Given the description of an element on the screen output the (x, y) to click on. 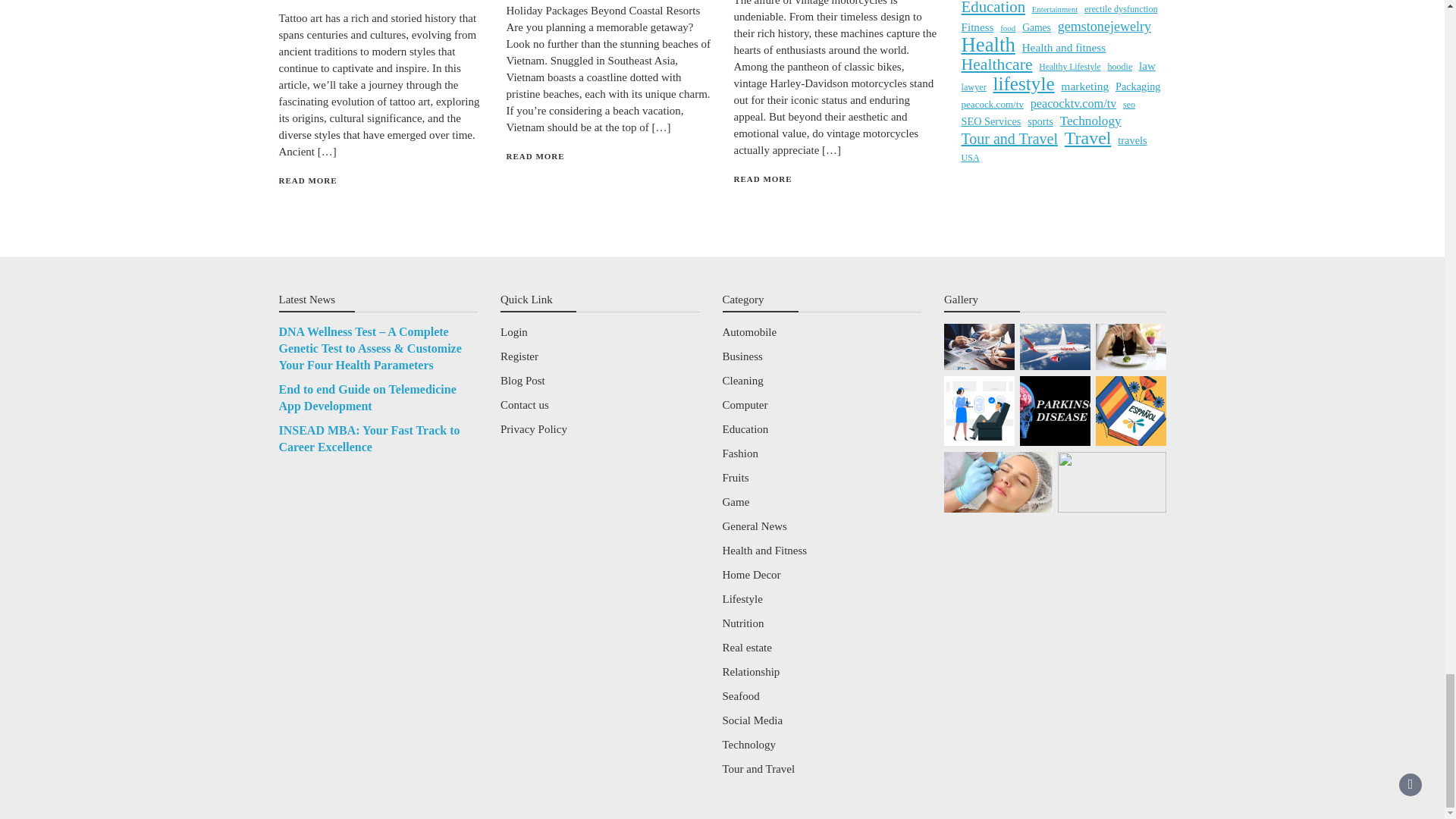
READ MORE (534, 155)
READ MORE (308, 180)
READ MORE (762, 178)
